Given the description of an element on the screen output the (x, y) to click on. 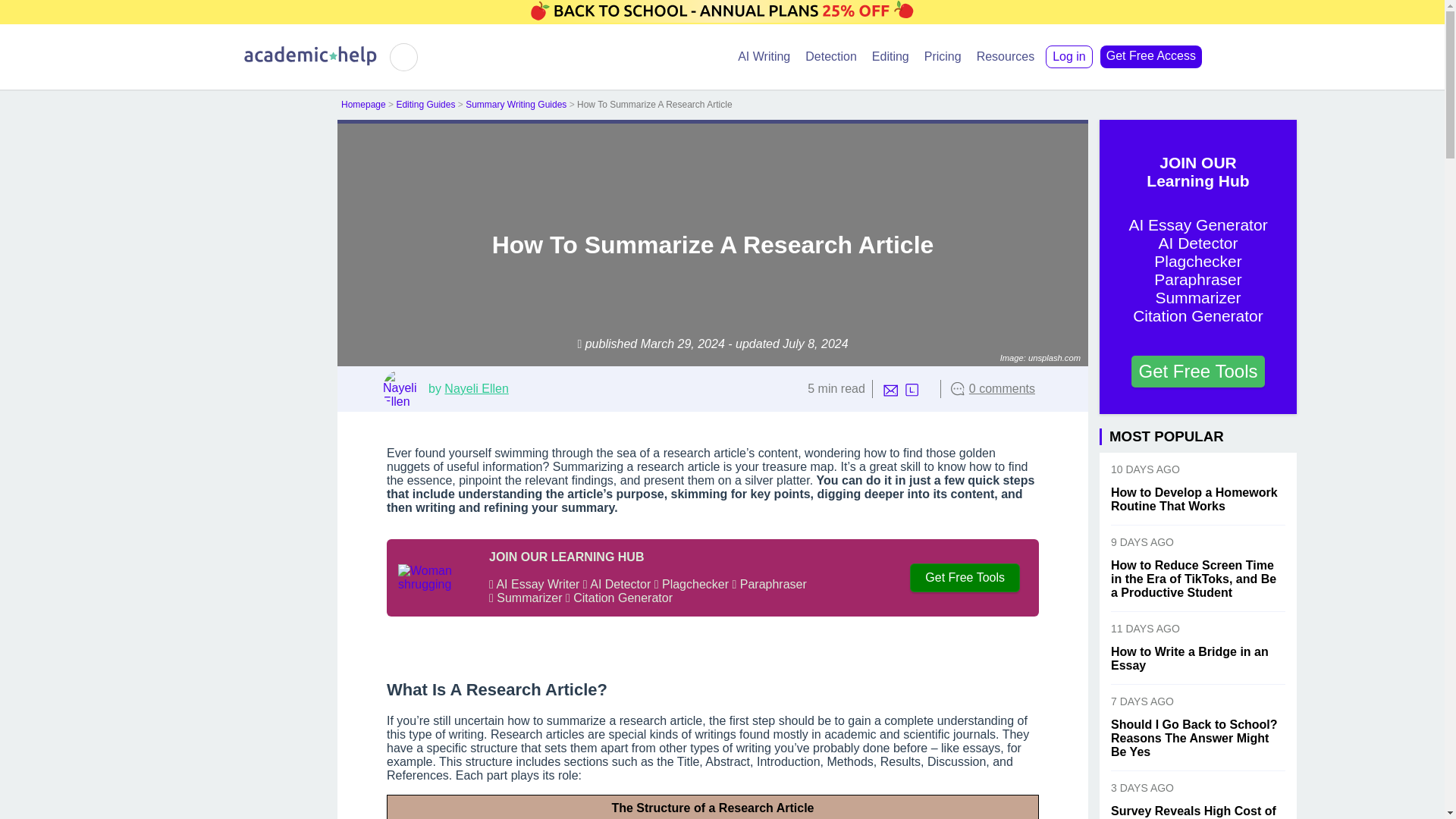
Resources (1005, 56)
Get Free Access (1151, 56)
Detection (830, 56)
Log in (1069, 56)
AcademicHelp.net (310, 62)
Go to AcademicHelp.net. (362, 104)
AI Writing (763, 56)
